Given the description of an element on the screen output the (x, y) to click on. 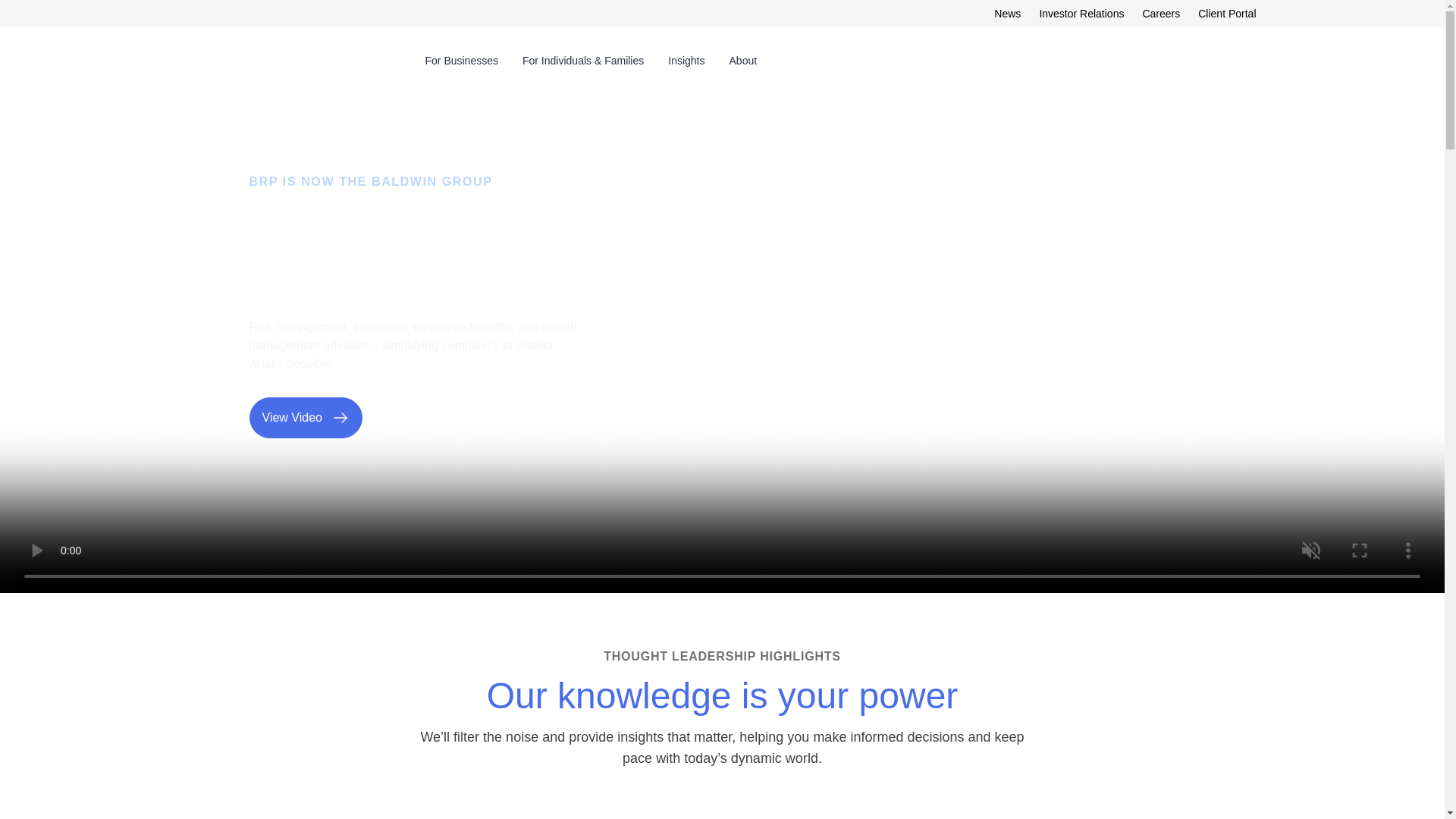
News (1007, 13)
For Businesses (460, 60)
Insights (686, 60)
Client Portal (1226, 13)
Careers (1160, 13)
Investor Relations (1081, 13)
